Given the description of an element on the screen output the (x, y) to click on. 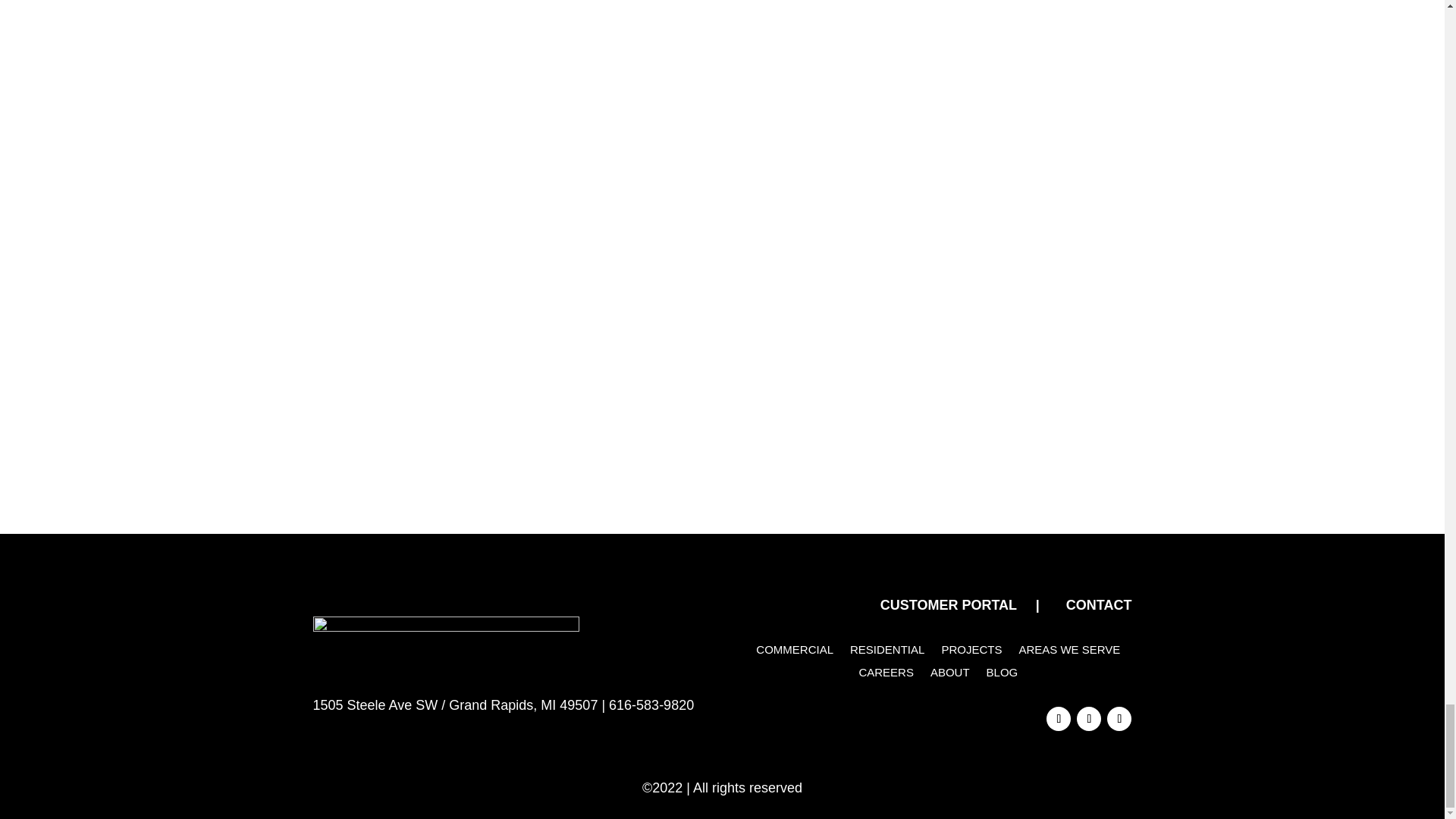
CAREERS (886, 675)
Group 272 (445, 644)
AREAS WE SERVE (1068, 652)
ABOUT (949, 675)
BLOG (1002, 675)
CUSTOMER PORTAL (948, 604)
PROJECTS (970, 652)
CONTACT (1098, 604)
Follow on X (1088, 718)
RESIDENTIAL (887, 652)
